Given the description of an element on the screen output the (x, y) to click on. 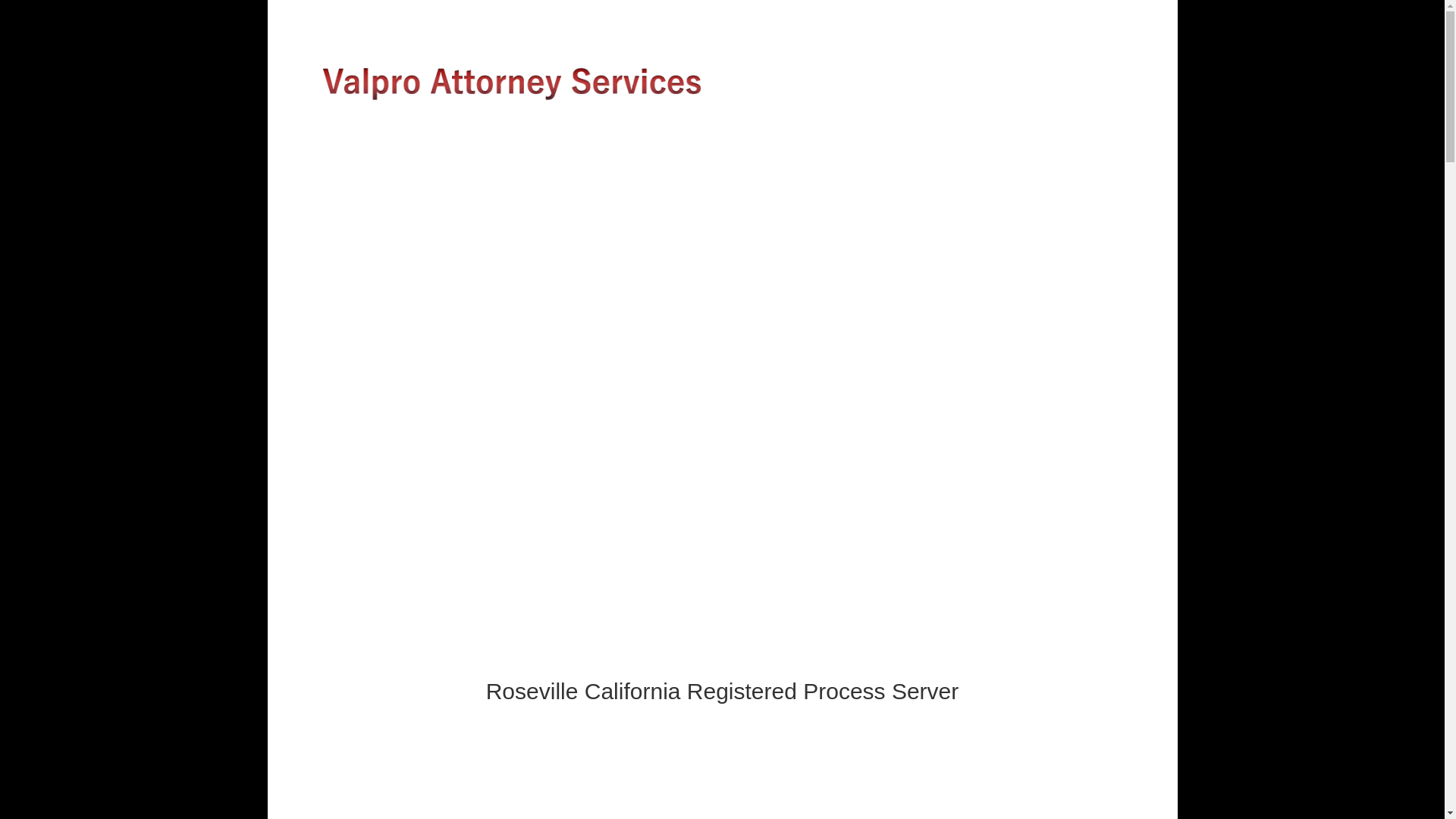
Litigation Support Services (428, 160)
Click to Email (721, 439)
Recruiting (625, 160)
Contact Us (692, 160)
References (550, 160)
Home (326, 160)
